Given the description of an element on the screen output the (x, y) to click on. 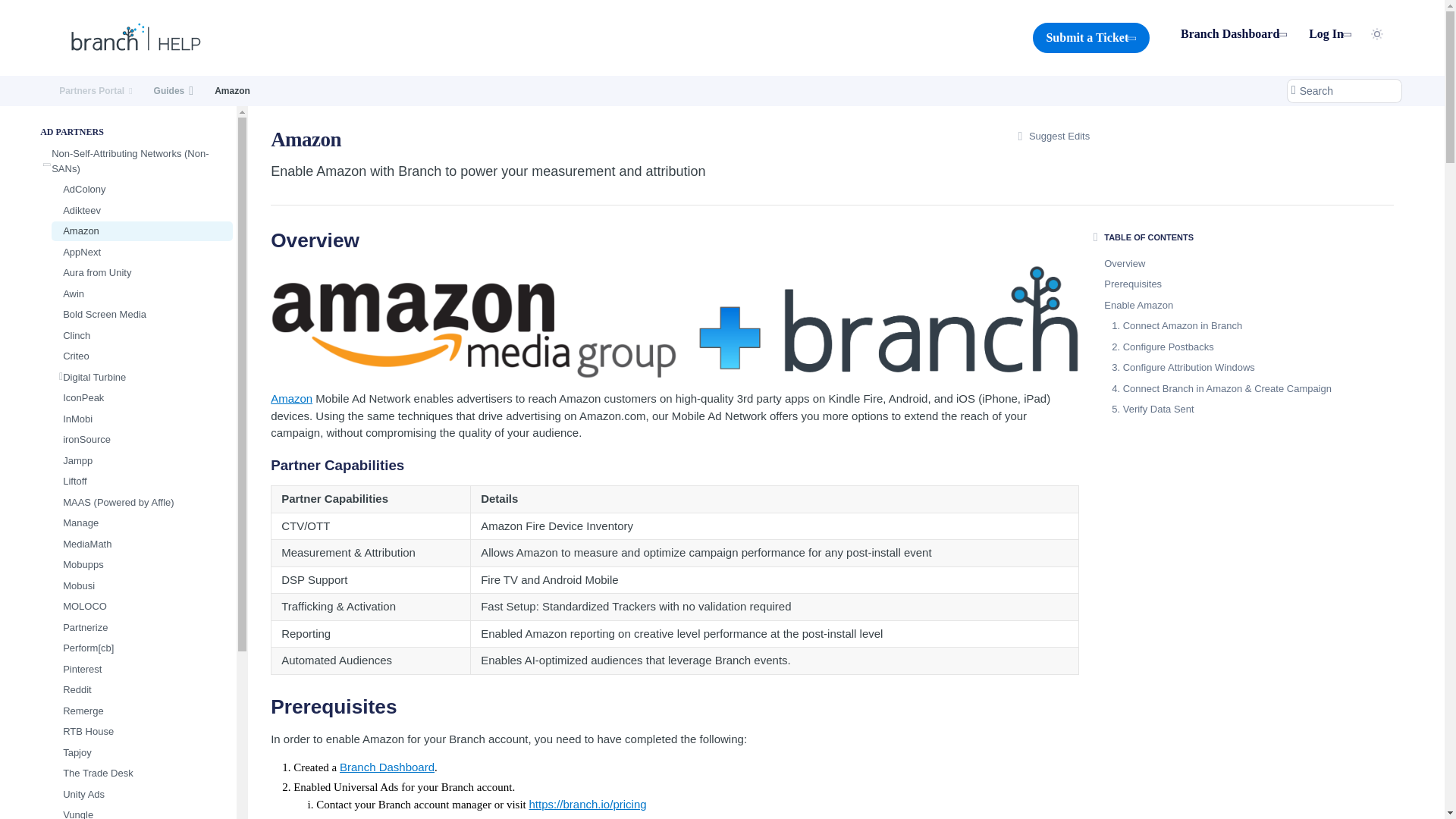
ironSource (141, 439)
Clinch (141, 335)
Log In (1329, 33)
InMobi (141, 419)
AdColony (141, 189)
Adikteev (141, 209)
Digital Turbine (141, 376)
IconPeak (141, 397)
Partner Capabilities (674, 465)
Search (1343, 90)
